Given the description of an element on the screen output the (x, y) to click on. 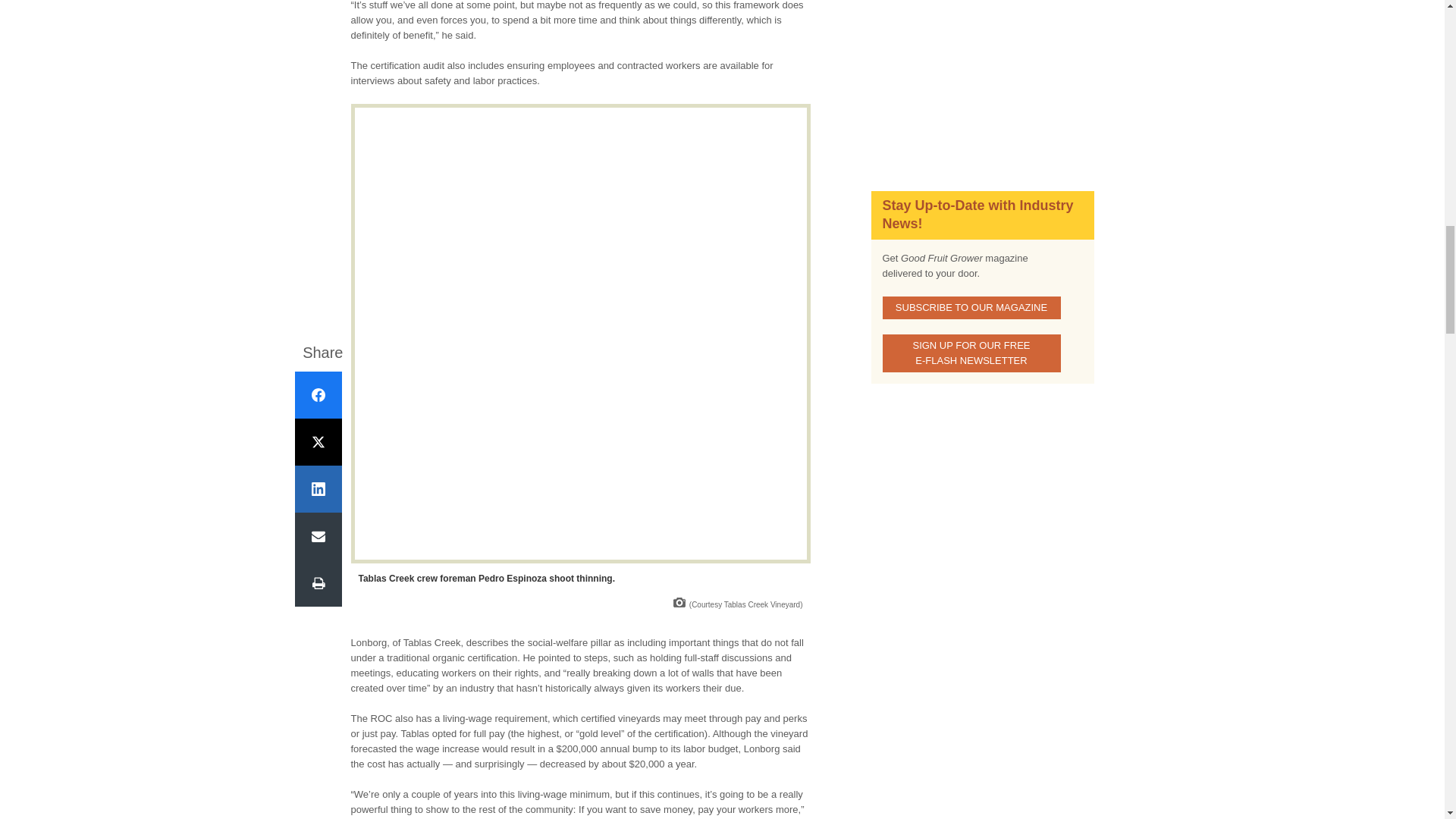
3rd party ad content (981, 78)
